Given the description of an element on the screen output the (x, y) to click on. 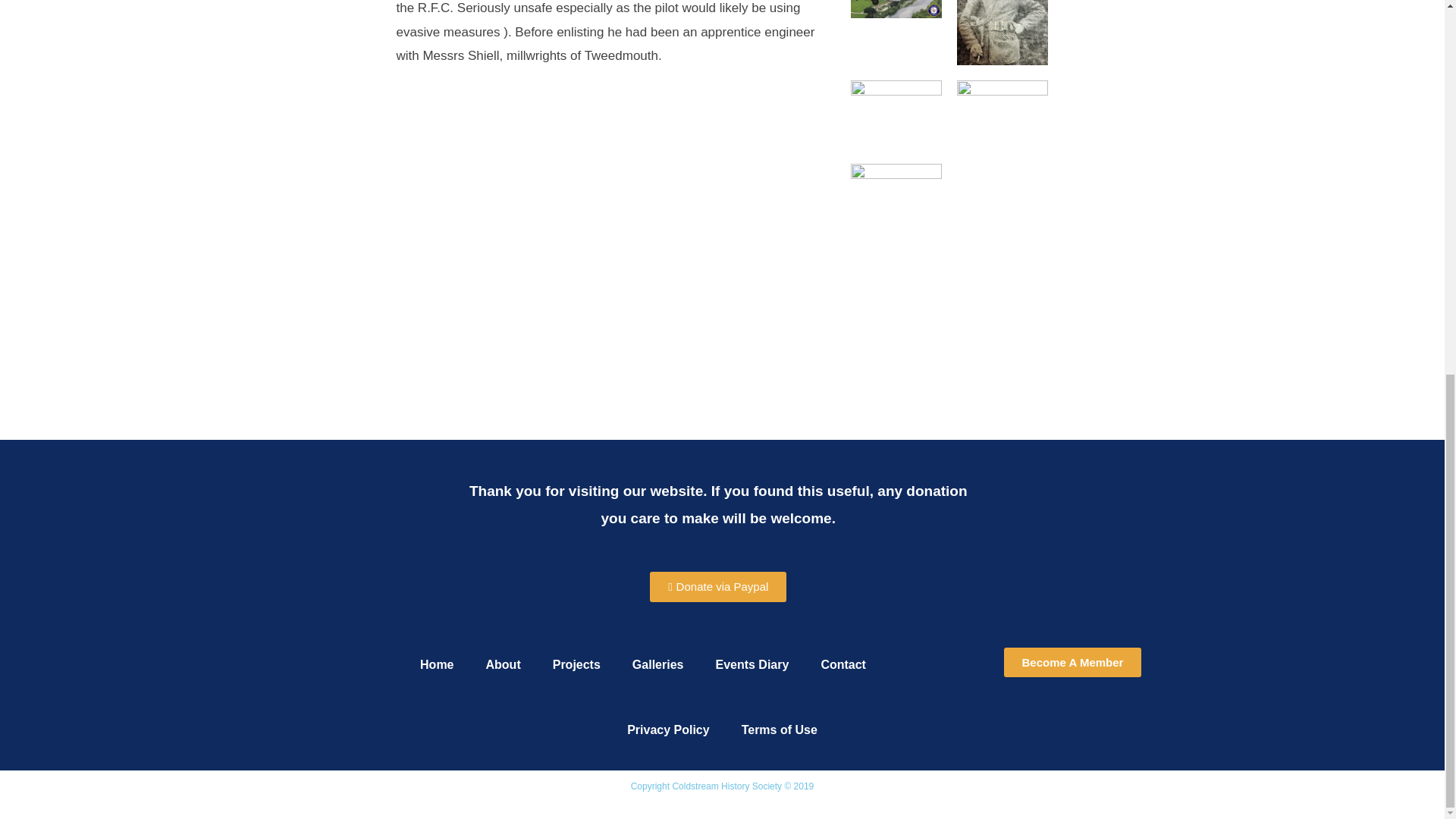
Donate via Paypal (717, 586)
About (502, 664)
Home (436, 664)
